Given the description of an element on the screen output the (x, y) to click on. 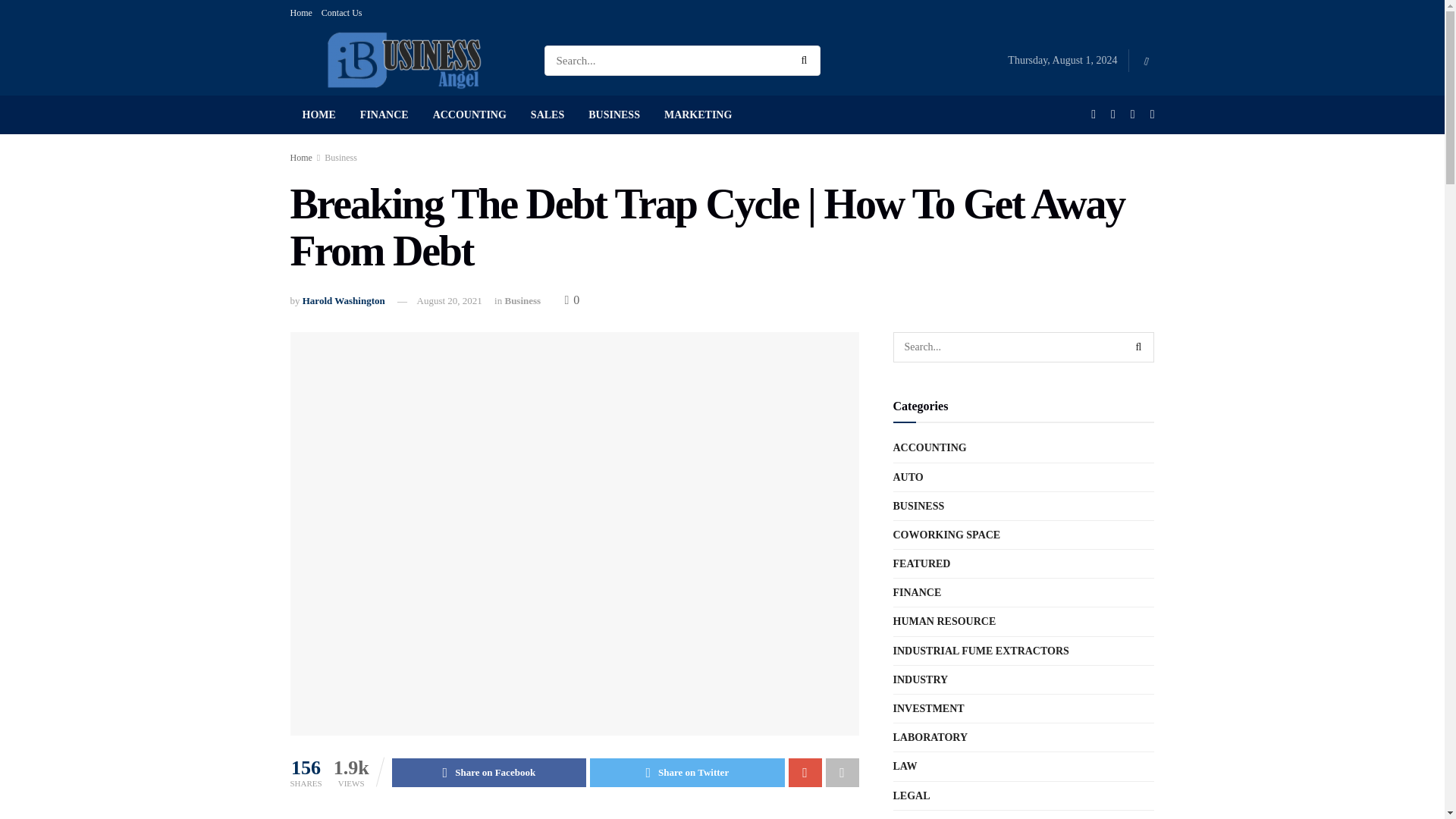
Share on Twitter (686, 772)
Business (340, 157)
MARKETING (698, 114)
BUSINESS (614, 114)
HOME (318, 114)
FINANCE (383, 114)
0 (571, 299)
SALES (547, 114)
ACCOUNTING (469, 114)
Share on Facebook (488, 772)
Contact Us (341, 12)
Home (300, 157)
Business (521, 300)
August 20, 2021 (448, 300)
Harold Washington (343, 300)
